Given the description of an element on the screen output the (x, y) to click on. 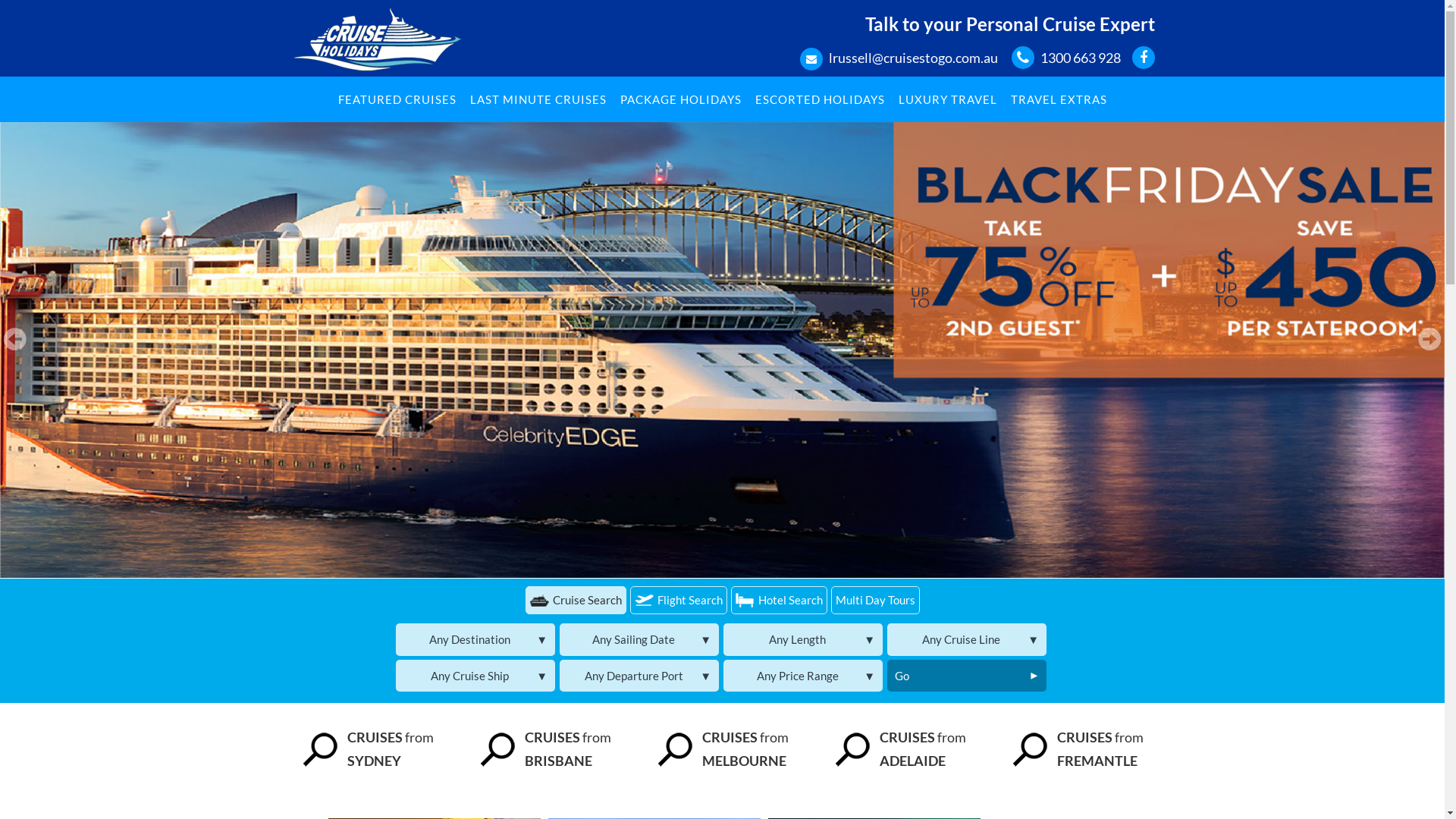
1300 663 928 Element type: text (1080, 57)
Multi Day Tours Element type: text (875, 600)
LAST MINUTE CRUISES Element type: text (538, 98)
Home Element type: hover (374, 34)
FEATURED CRUISES Element type: text (397, 98)
previous Element type: text (14, 338)
lrussell@cruisestogo.com.au Element type: text (912, 57)
next Element type: text (1429, 338)
Go Element type: text (966, 675)
LUXURY TRAVEL Element type: text (946, 98)
ESCORTED HOLIDAYS Element type: text (820, 98)
TRAVEL EXTRAS Element type: text (1058, 98)
PACKAGE HOLIDAYS Element type: text (680, 98)
